Given the description of an element on the screen output the (x, y) to click on. 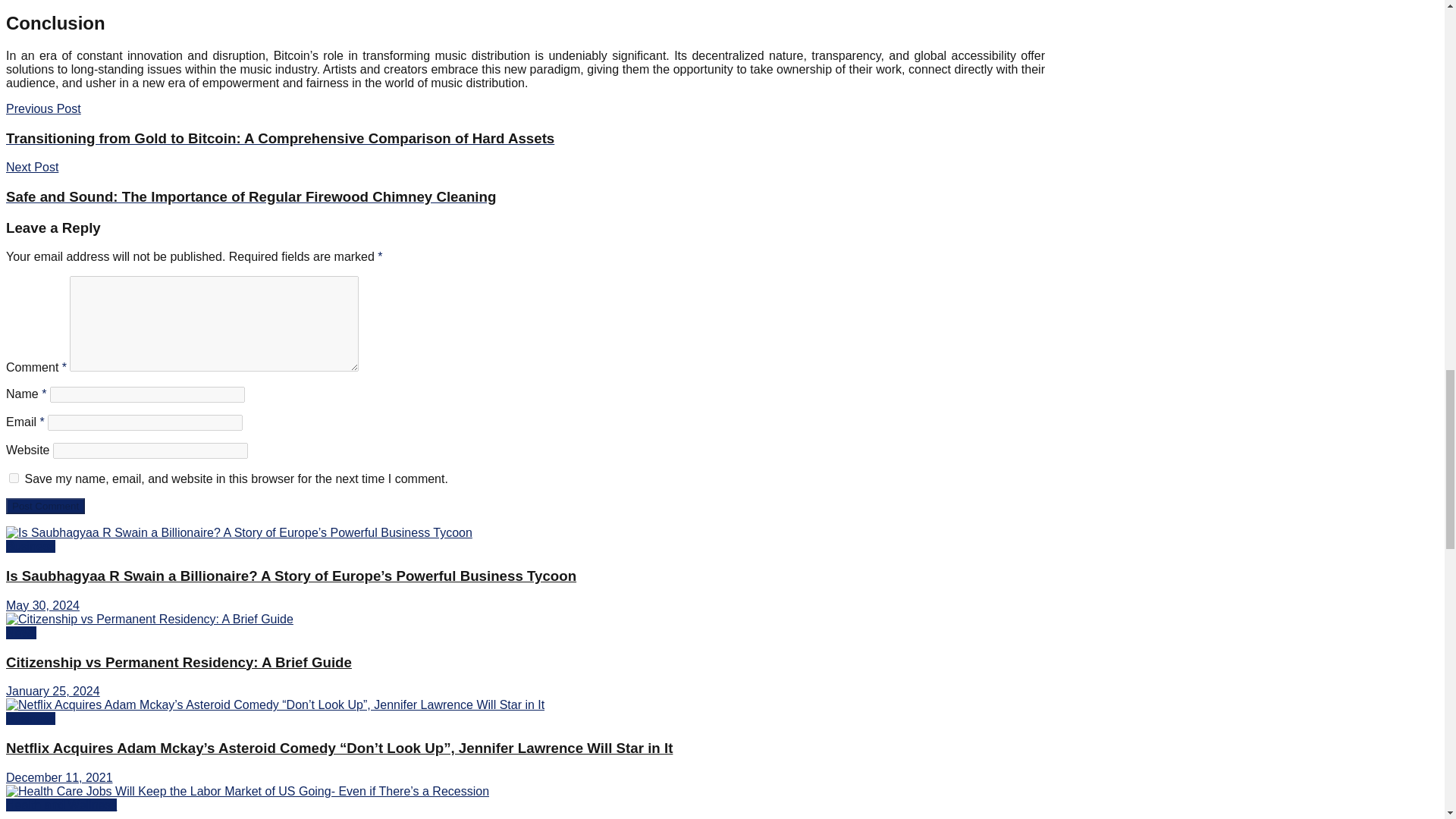
yes (13, 478)
Post Comment (44, 505)
